Given the description of an element on the screen output the (x, y) to click on. 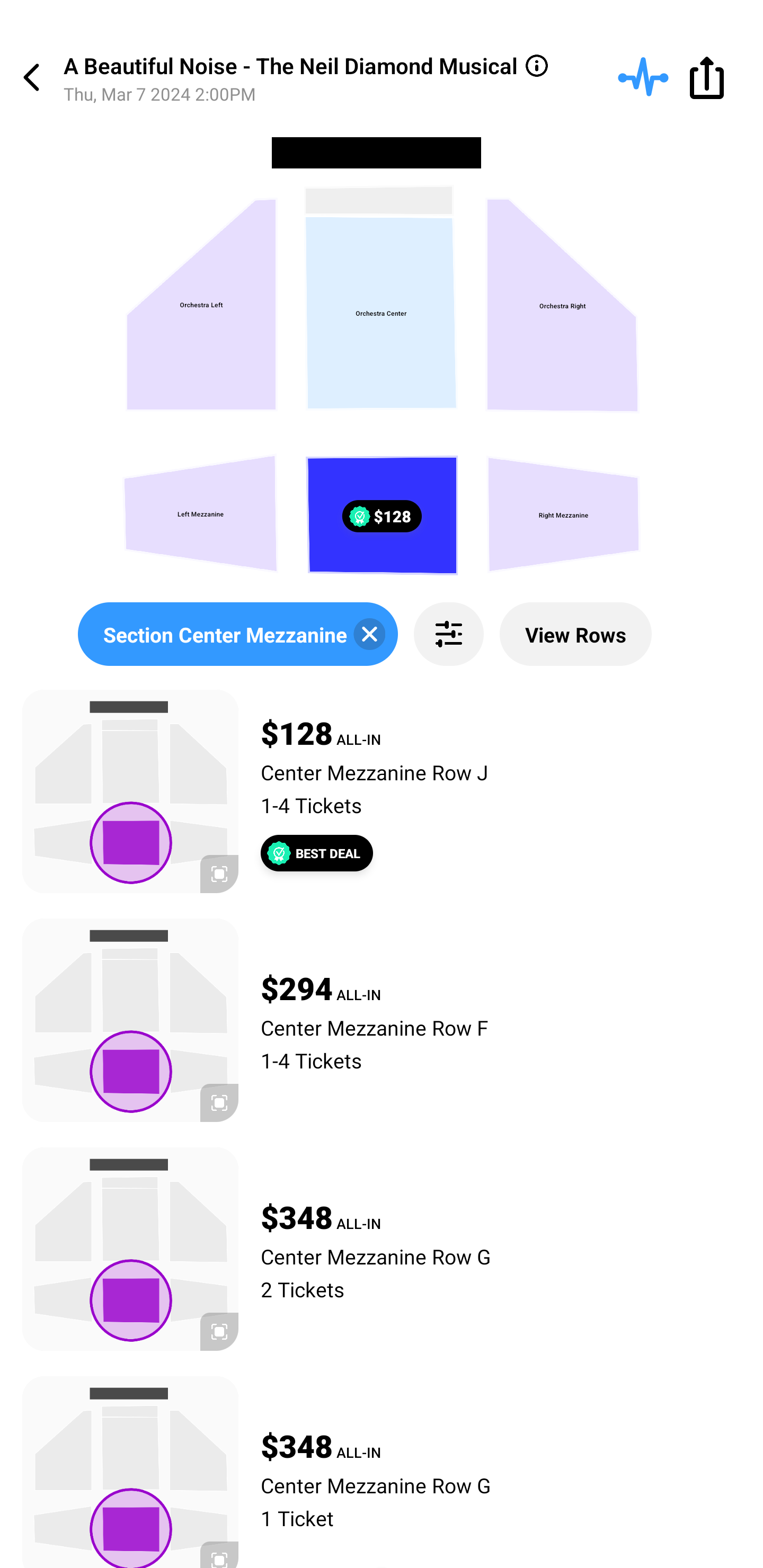
Section Center Mezzanine (237, 634)
View Rows (575, 634)
BEST DEAL (316, 852)
